Given the description of an element on the screen output the (x, y) to click on. 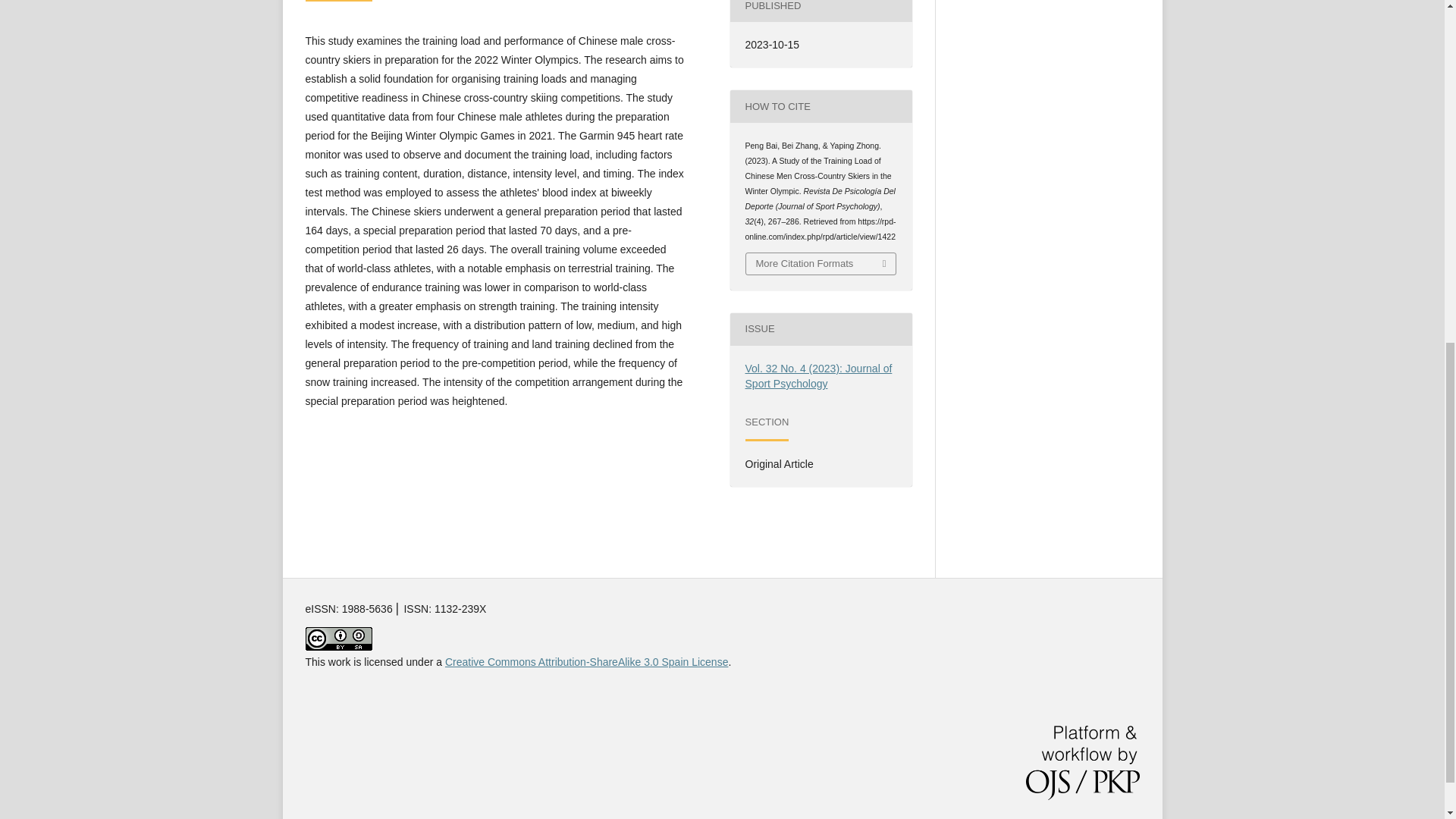
More Citation Formats (820, 263)
